Given the description of an element on the screen output the (x, y) to click on. 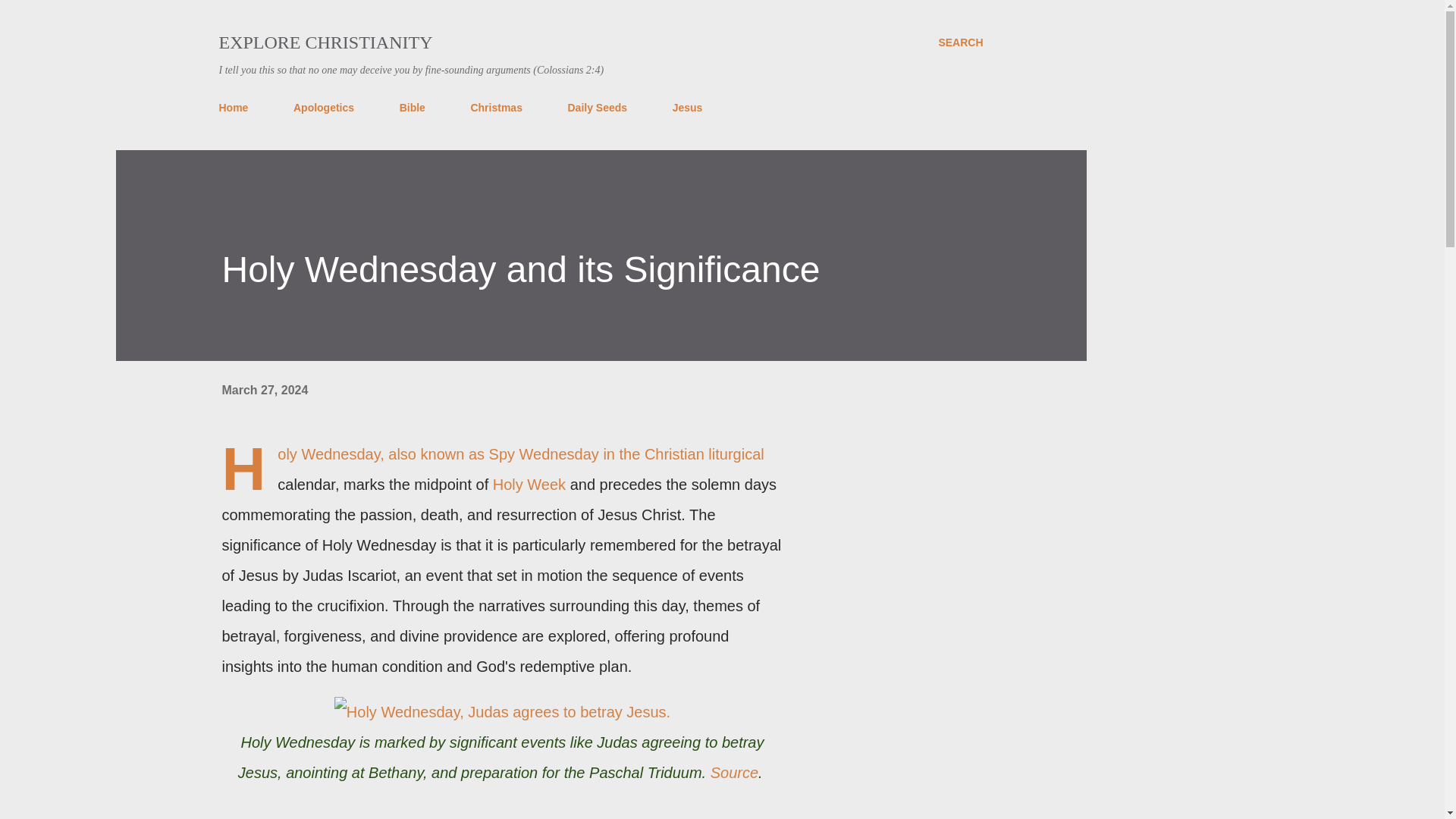
Home (237, 107)
EXPLORE CHRISTIANITY (325, 42)
SEARCH (959, 42)
Bible (411, 107)
Apologetics (322, 107)
March 27, 2024 (264, 390)
Daily Seeds (596, 107)
Christmas (496, 107)
Source (734, 772)
